Given the description of an element on the screen output the (x, y) to click on. 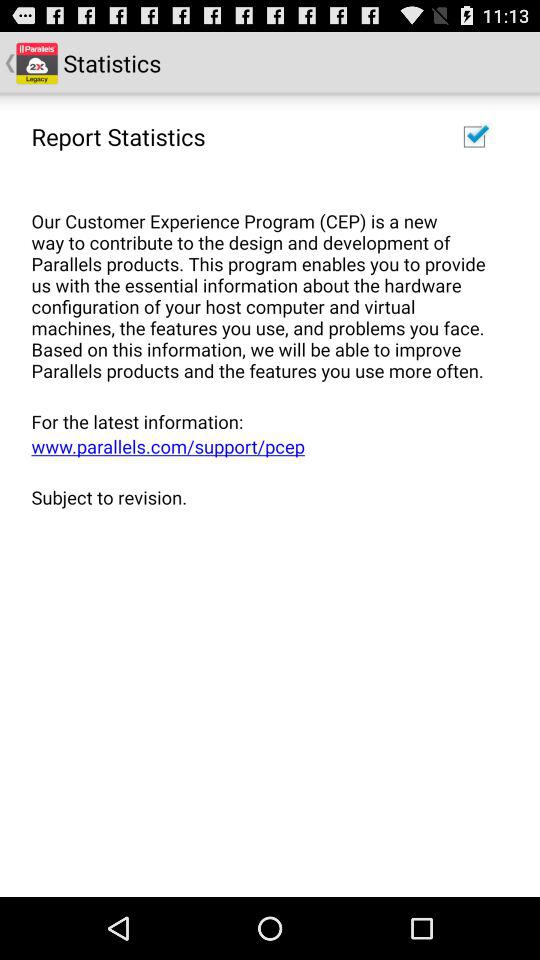
choose the item at the top right corner (474, 136)
